Given the description of an element on the screen output the (x, y) to click on. 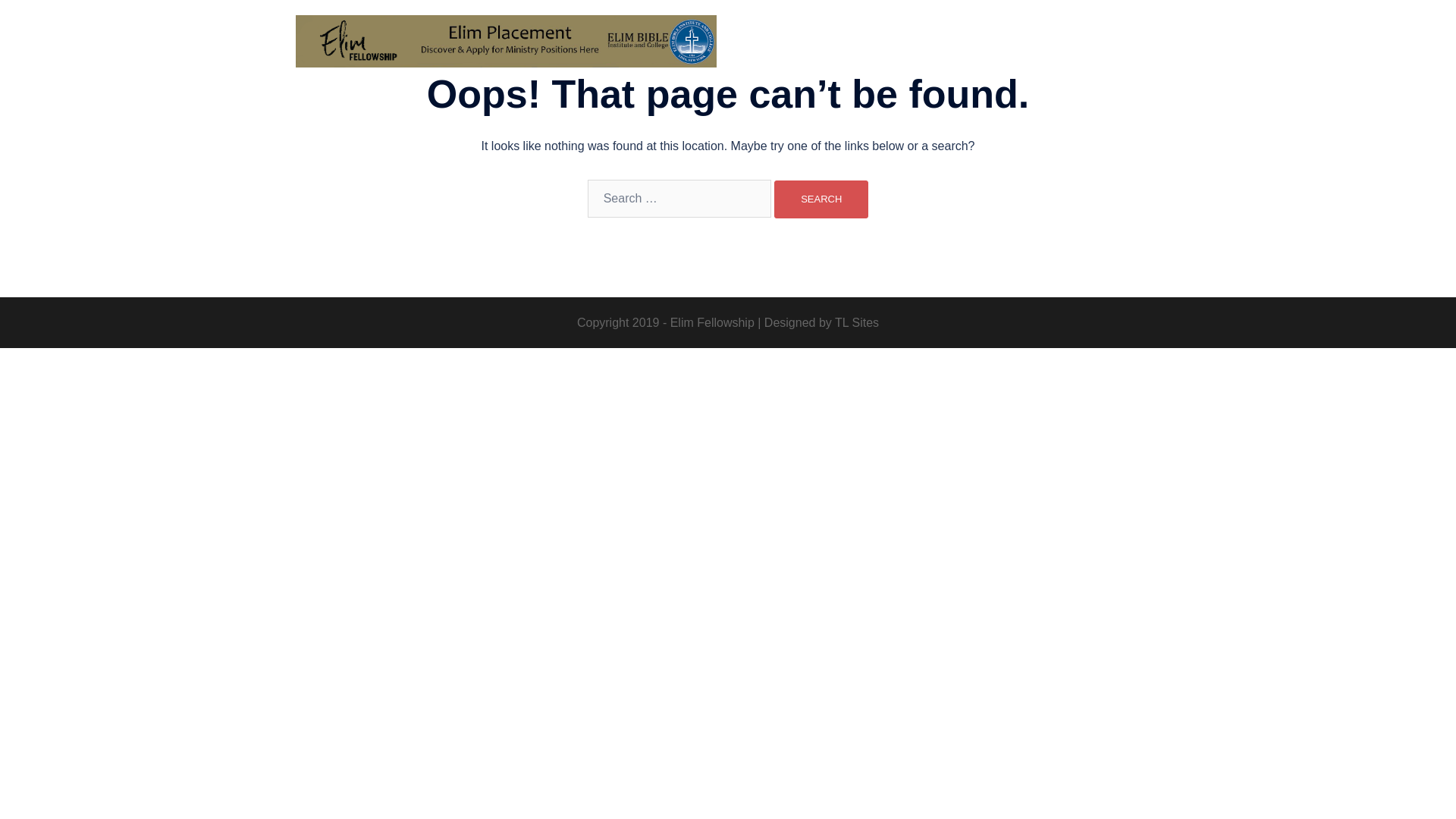
View Placement Opportunities (911, 44)
Post a Ministry Opportunity (1080, 44)
Search (820, 199)
Elim Placement (505, 45)
Search (820, 199)
BACK TO EF (781, 44)
Search (820, 199)
Designed by TL Sites (821, 322)
